Given the description of an element on the screen output the (x, y) to click on. 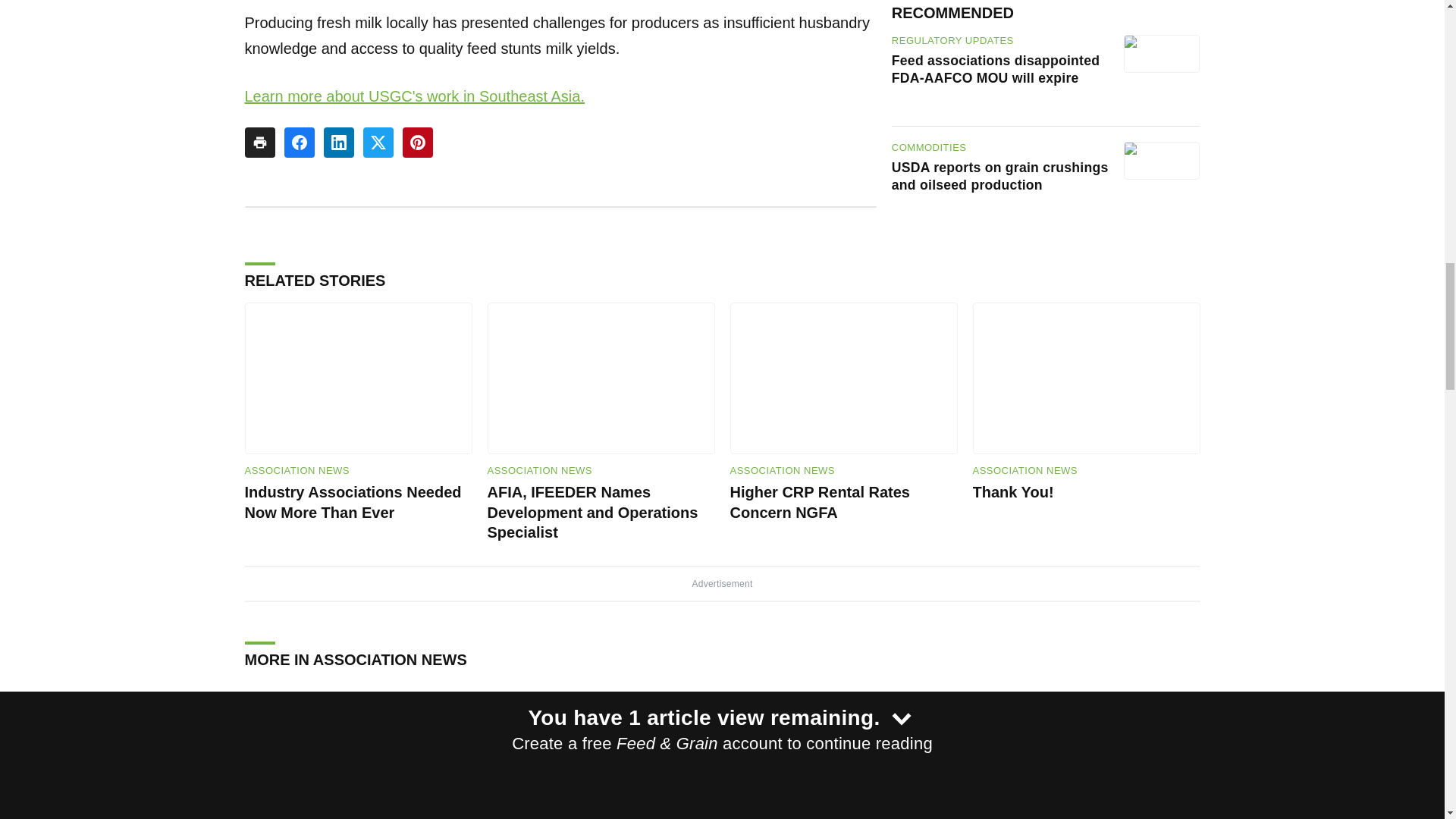
Share To print (259, 142)
Share To facebook (298, 142)
Share To linkedin (338, 142)
Share To twitter (377, 142)
Share To pinterest (416, 142)
